Given the description of an element on the screen output the (x, y) to click on. 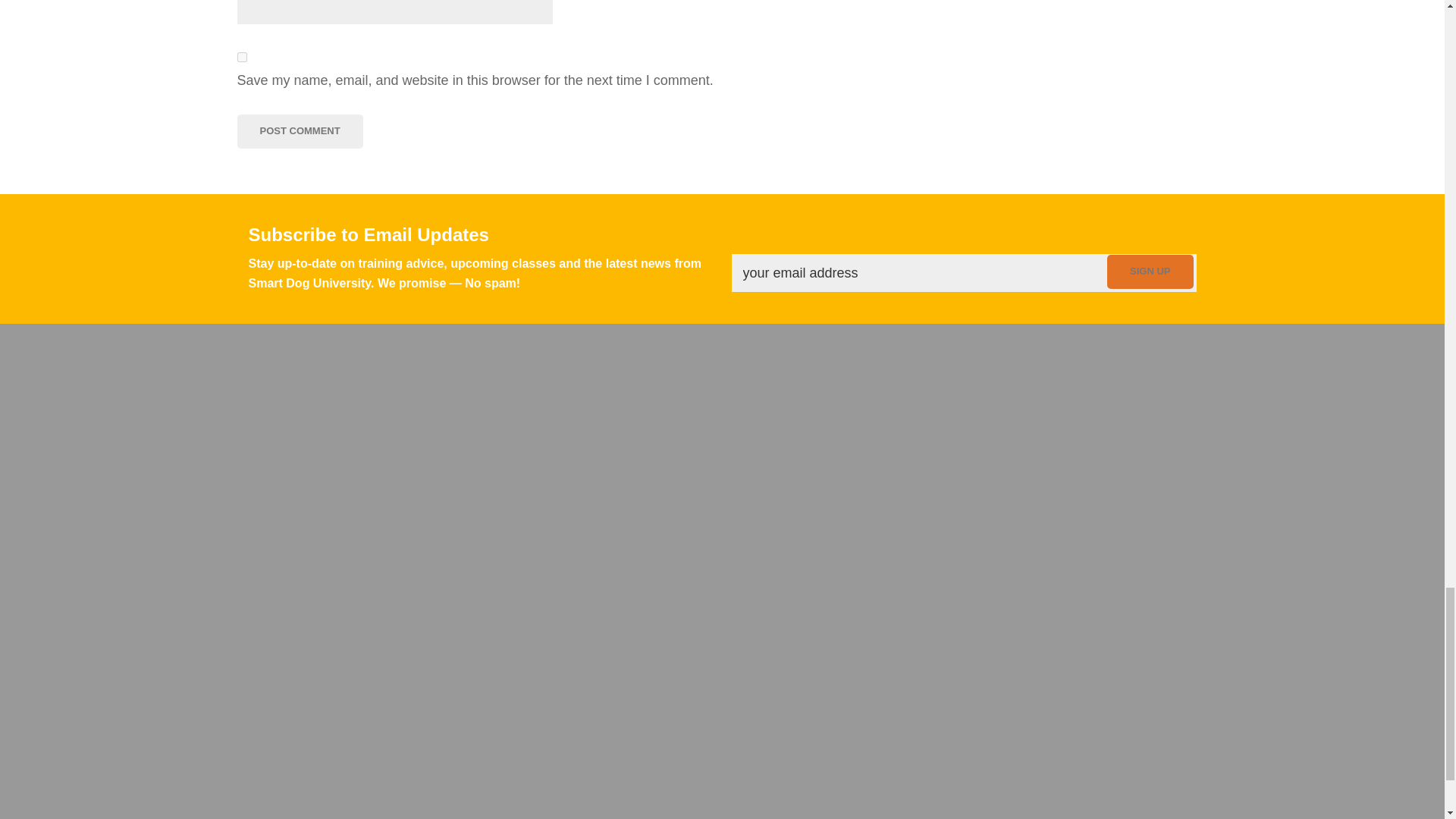
Sign Up (1149, 271)
Post Comment (298, 131)
Sign Up (1149, 271)
Post Comment (298, 131)
yes (240, 57)
